Given the description of an element on the screen output the (x, y) to click on. 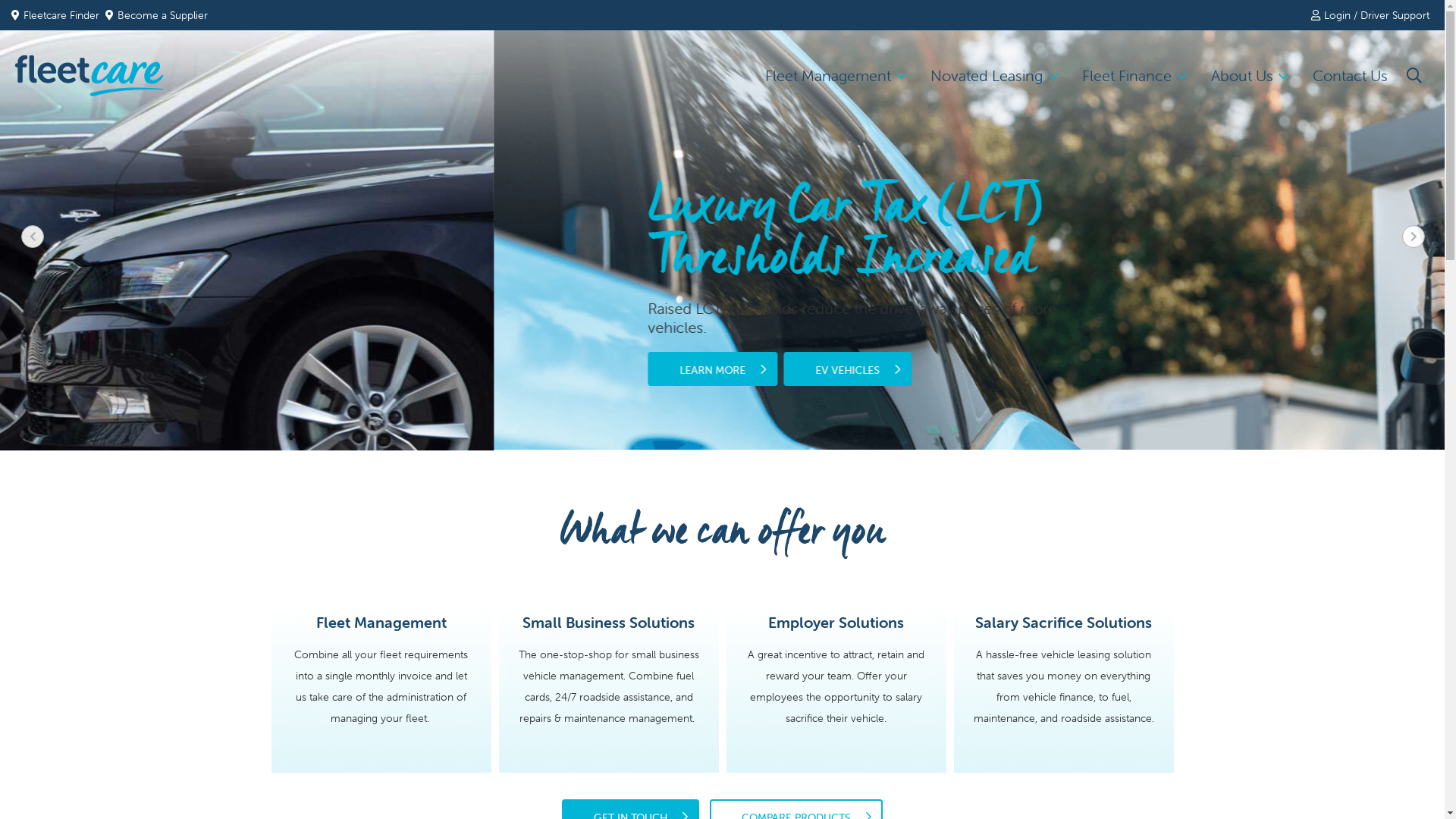
INSTANT ASSET WRITE-OFF Element type: text (388, 314)
Previous Element type: text (4, 225)
Next Element type: text (1416, 225)
Contact Us Element type: text (1349, 75)
LEARN MORE Element type: text (218, 314)
Fleetcare Finder   Element type: text (58, 14)
Become a Supplier Element type: text (156, 14)
